Given the description of an element on the screen output the (x, y) to click on. 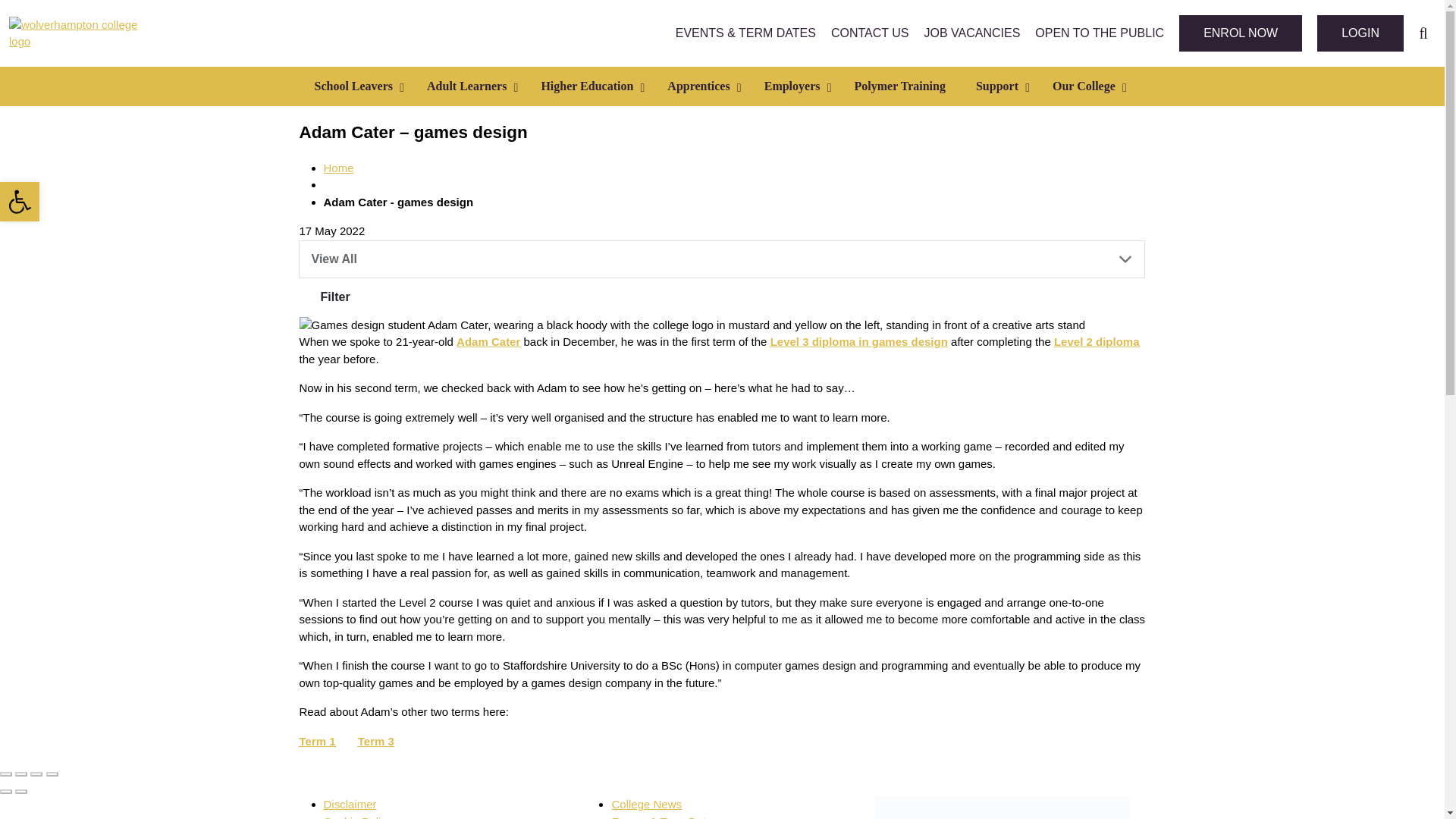
ENROL NOW (1240, 33)
Toggle fullscreen (36, 774)
Share (20, 774)
Accessibility Tools (19, 201)
JOB VACANCIES (971, 33)
Search (1422, 33)
Adam Cater - games design (398, 201)
Homepage (338, 167)
OPEN TO THE PUBLIC (1099, 33)
